Given the description of an element on the screen output the (x, y) to click on. 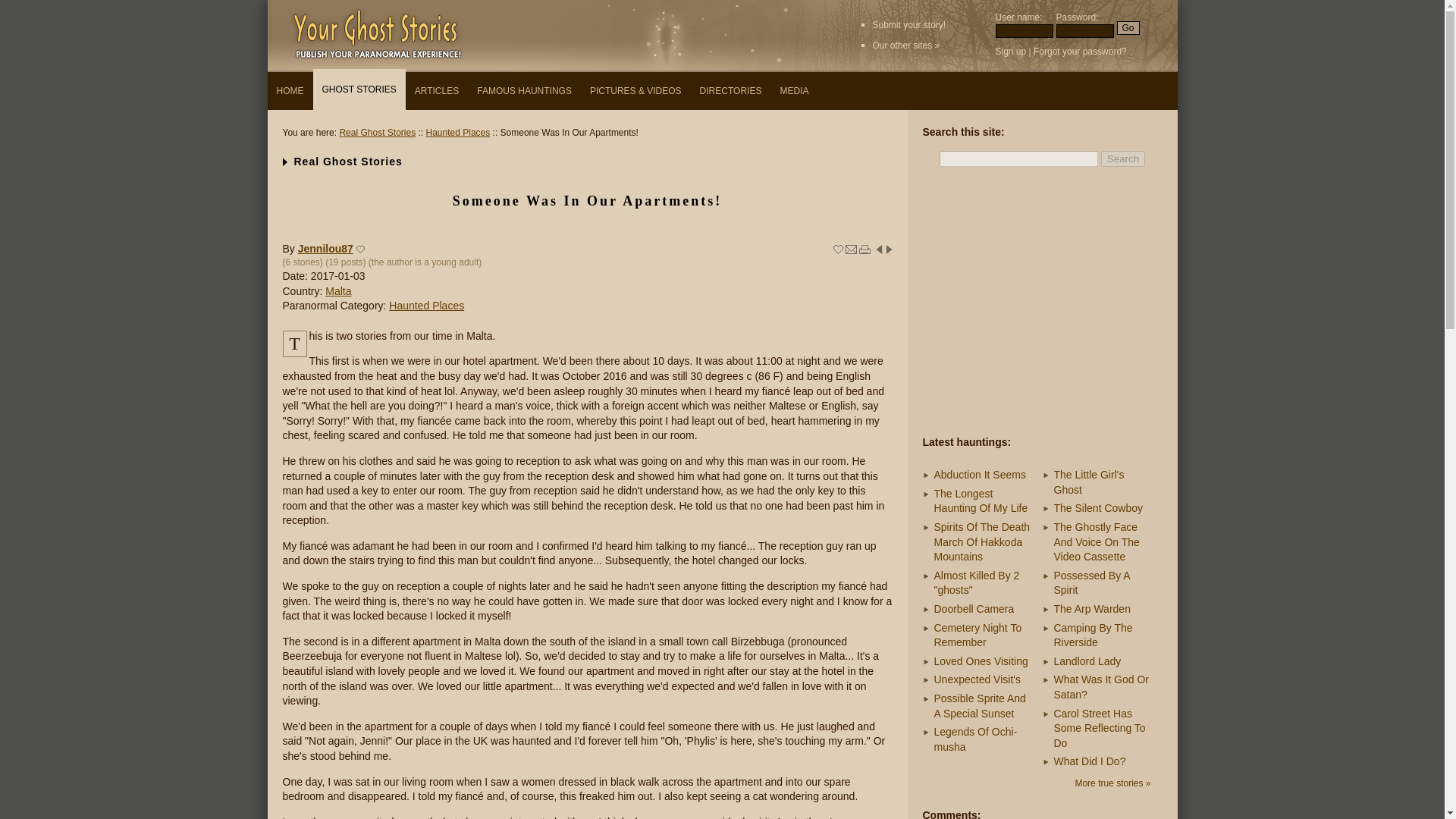
GHOST STORIES (358, 88)
HOME (289, 90)
Add Jennilou87 to your favorite people (360, 248)
DIRECTORIES (730, 90)
Forgot your password (1077, 50)
Haunted Places (458, 132)
MEDIA (793, 90)
Add to your favorite stories (837, 248)
Print this story (864, 248)
Add to your favorite stories (837, 248)
